Given the description of an element on the screen output the (x, y) to click on. 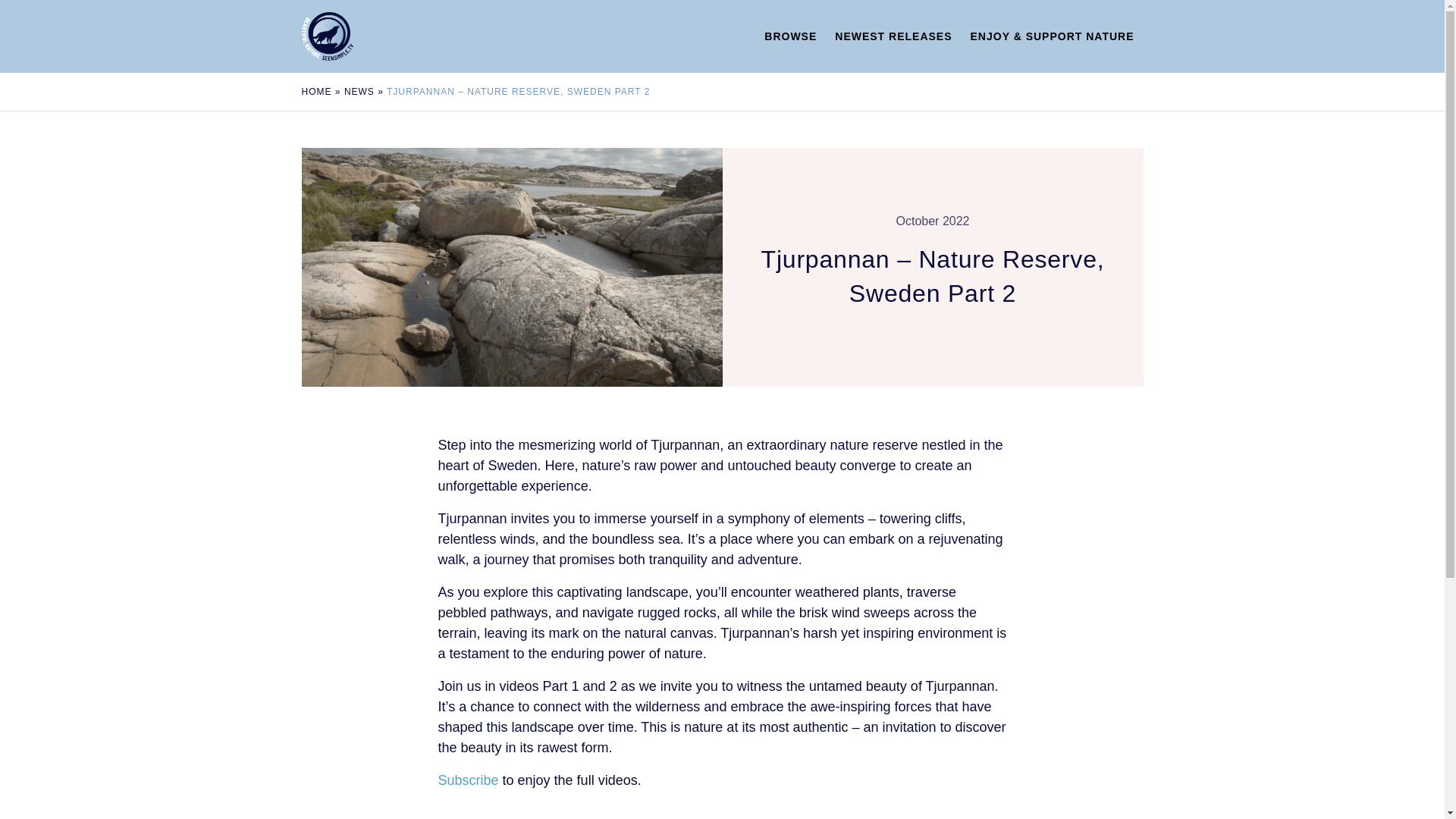
News (358, 91)
BROWSE (790, 36)
NEWEST RELEASES (892, 36)
Tjurpannan2 - seensimple.tv (511, 267)
NEWS (358, 91)
Subscribe (468, 780)
Home (316, 91)
HOME (316, 91)
seensimple.tv (362, 36)
